Given the description of an element on the screen output the (x, y) to click on. 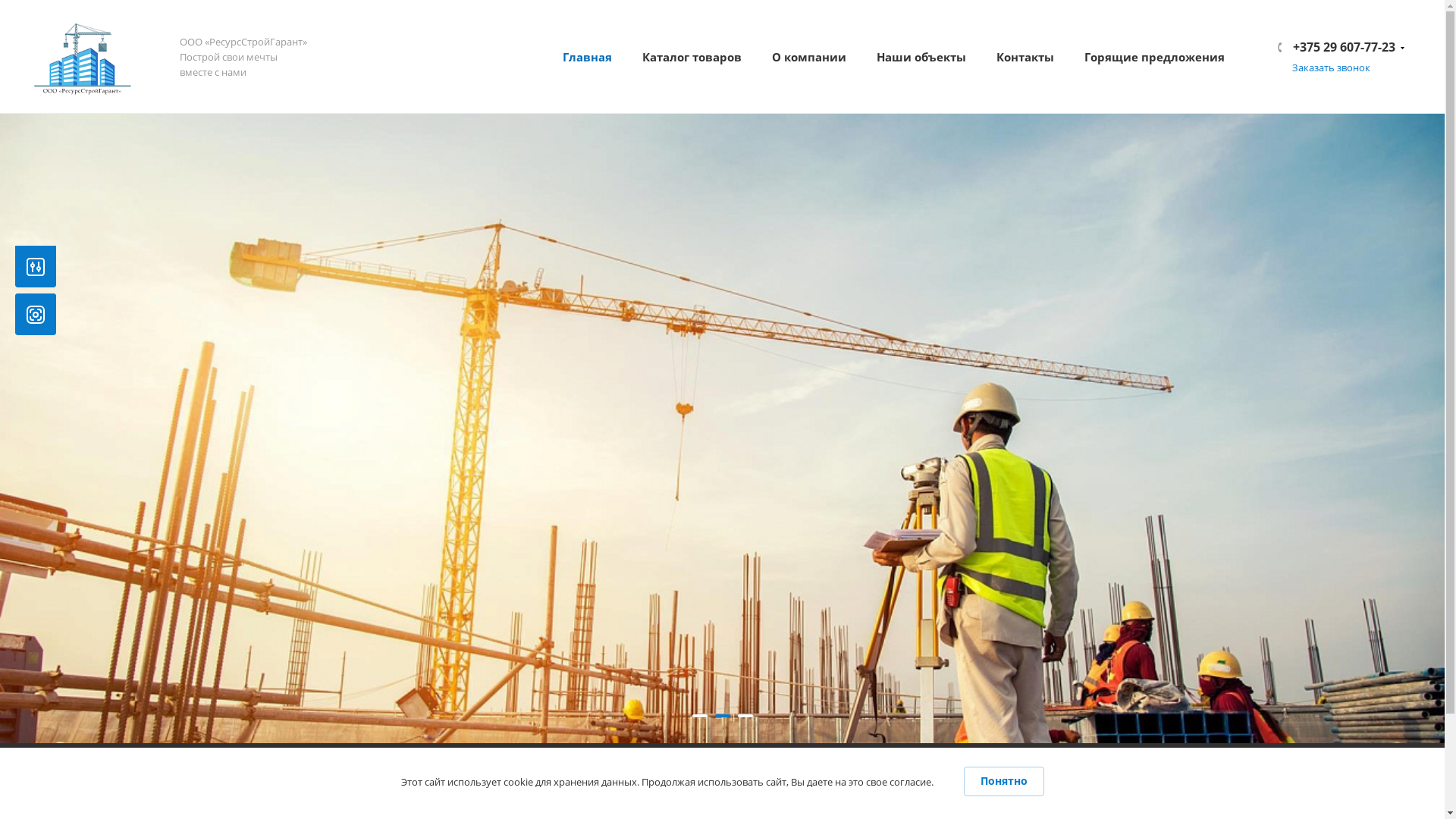
2 Element type: text (721, 715)
rsg_info@mail.ru Element type: text (306, 805)
3 Element type: text (744, 715)
+375 29 607-77-23 Element type: text (1341, 45)
+375 29 607-77-23 Element type: text (600, 781)
1 Element type: text (698, 715)
